Given the description of an element on the screen output the (x, y) to click on. 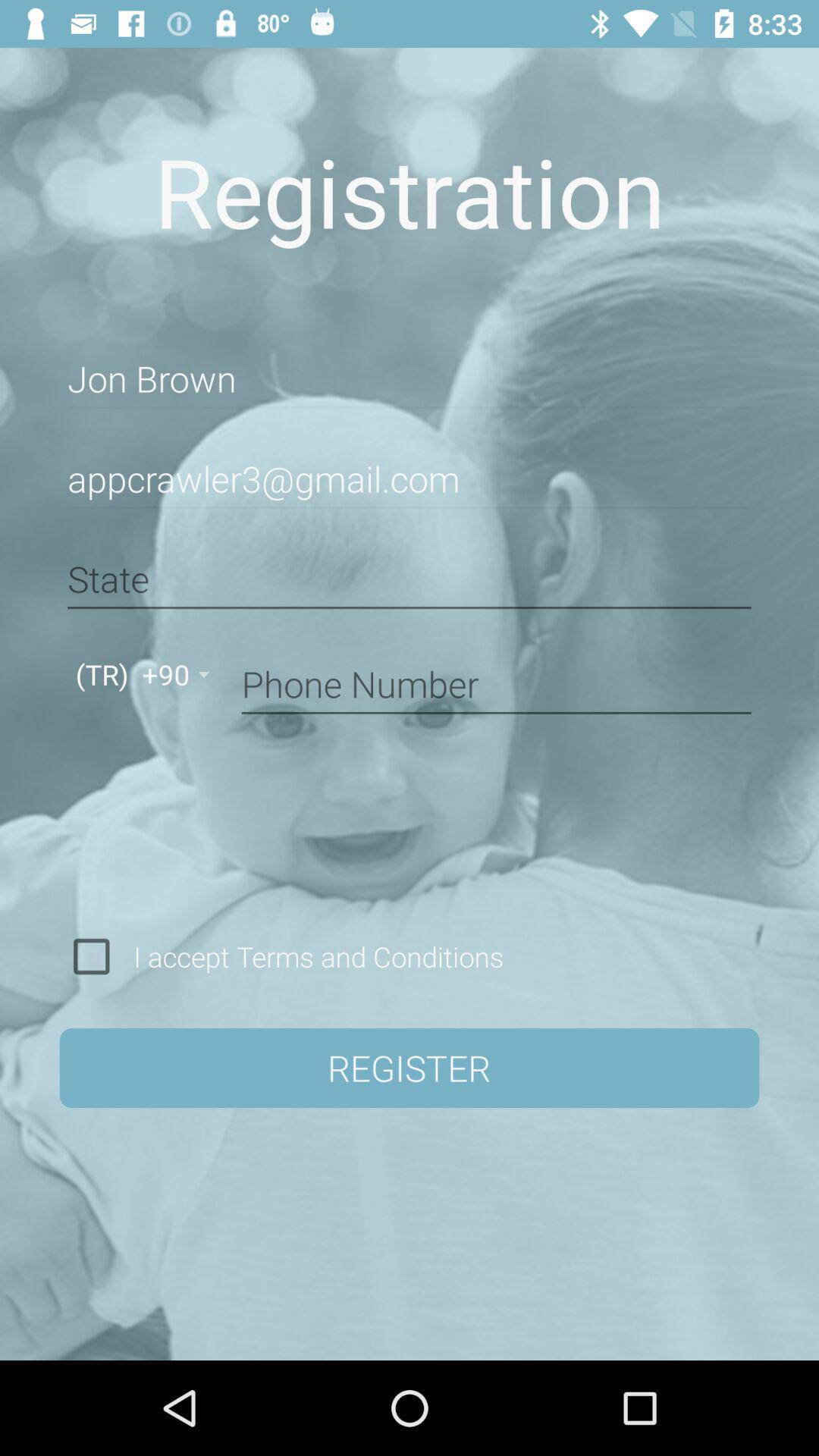
tap the appcrawler3@gmail.com (409, 479)
